Given the description of an element on the screen output the (x, y) to click on. 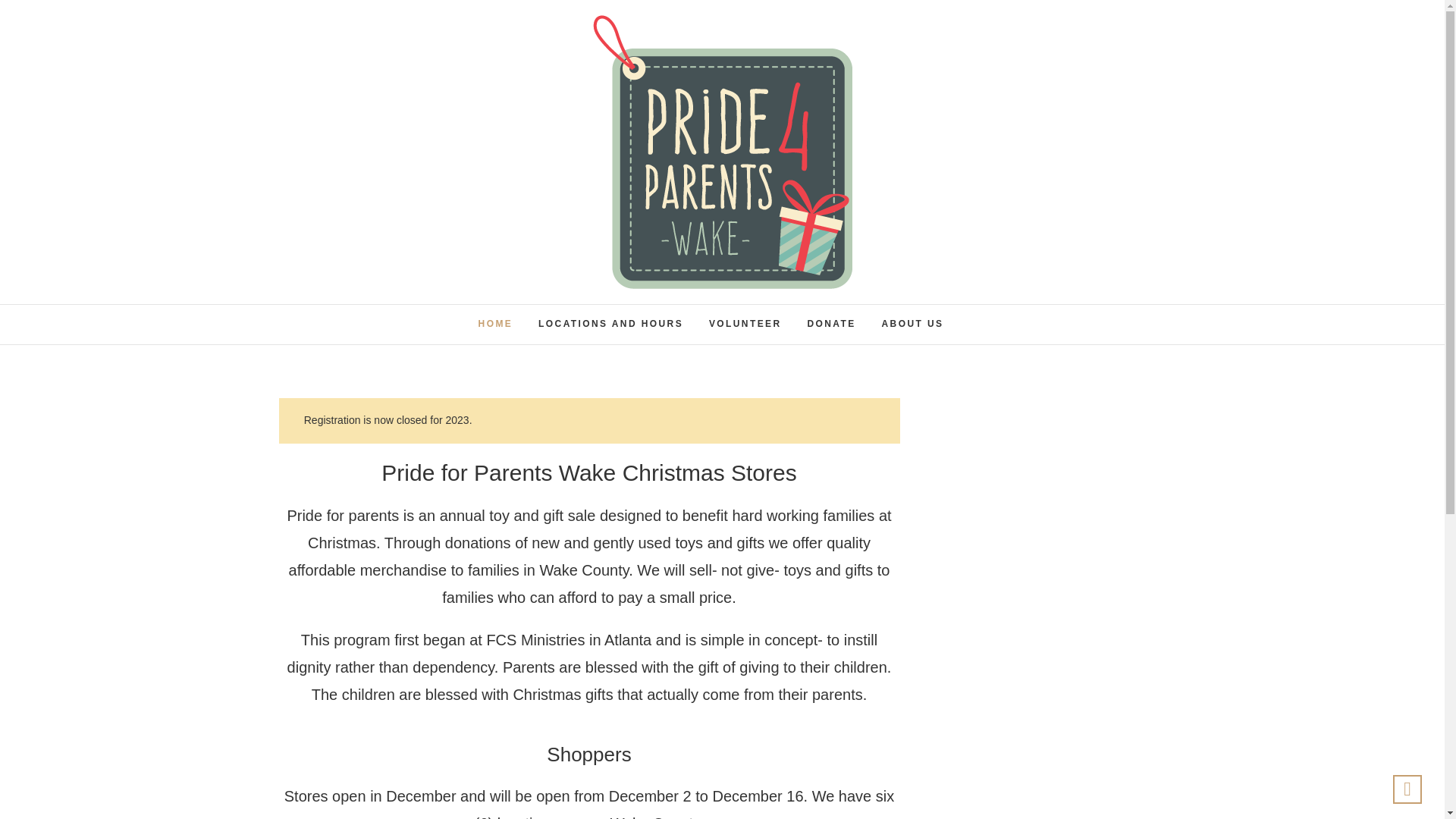
Pride for Parents Wake (700, 307)
Pride for Parents Wake (700, 307)
VOLUNTEER (745, 323)
HOME (495, 323)
ABOUT US (912, 323)
DONATE (830, 323)
LOCATIONS AND HOURS (610, 323)
Go to Top (1407, 788)
